Given the description of an element on the screen output the (x, y) to click on. 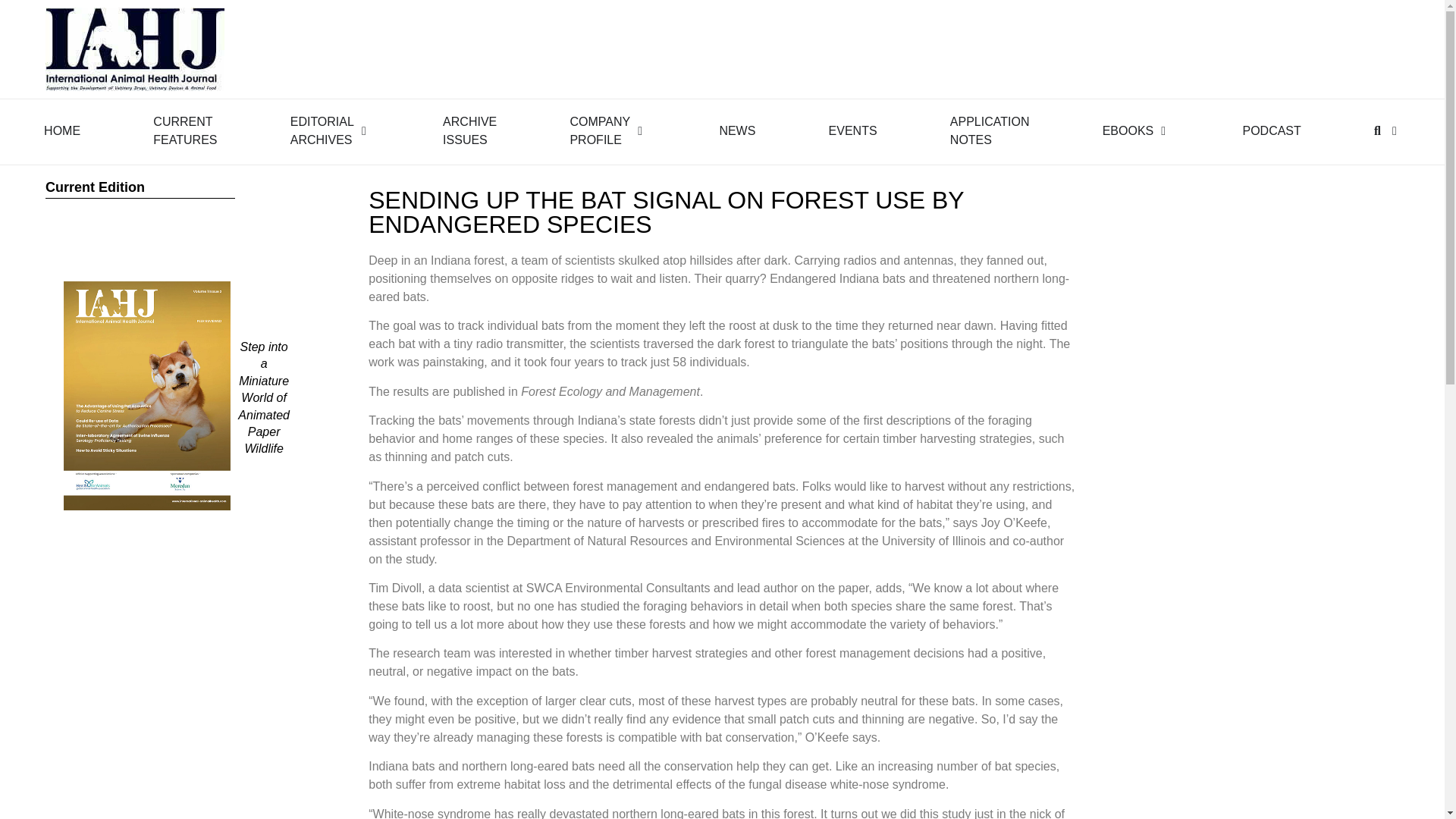
HOME (61, 131)
NEWS (184, 131)
EVENTS (321, 131)
PODCAST (469, 131)
EBOOKS (737, 131)
